Given the description of an element on the screen output the (x, y) to click on. 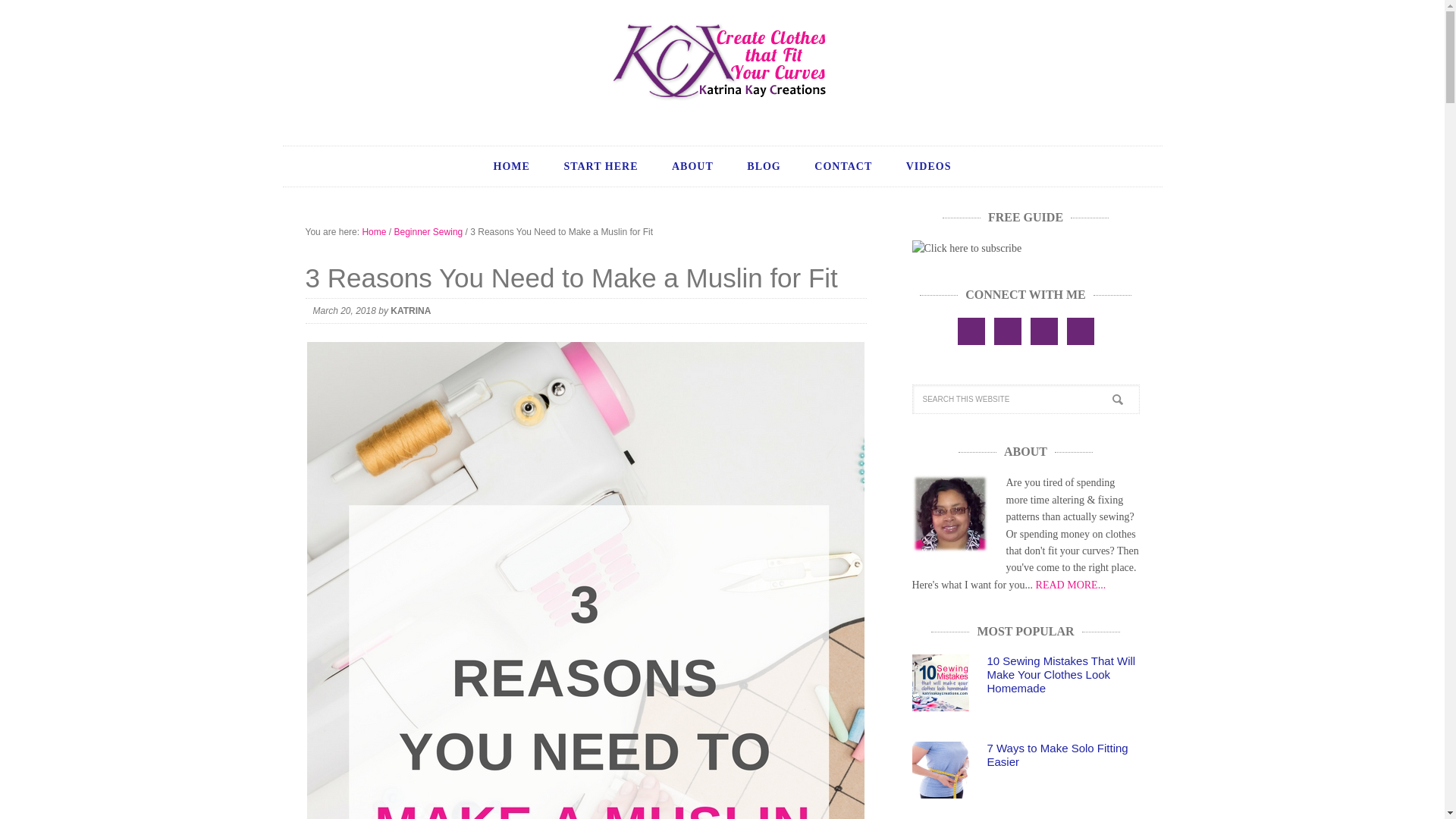
BLOG (763, 166)
CONTACT (842, 166)
Katrina Kay Creations (721, 60)
Home (373, 231)
ABOUT (692, 166)
Beginner Sewing (428, 231)
VIDEOS (928, 166)
START HERE (600, 166)
HOME (511, 166)
KATRINA (410, 310)
About (1070, 584)
